Given the description of an element on the screen output the (x, y) to click on. 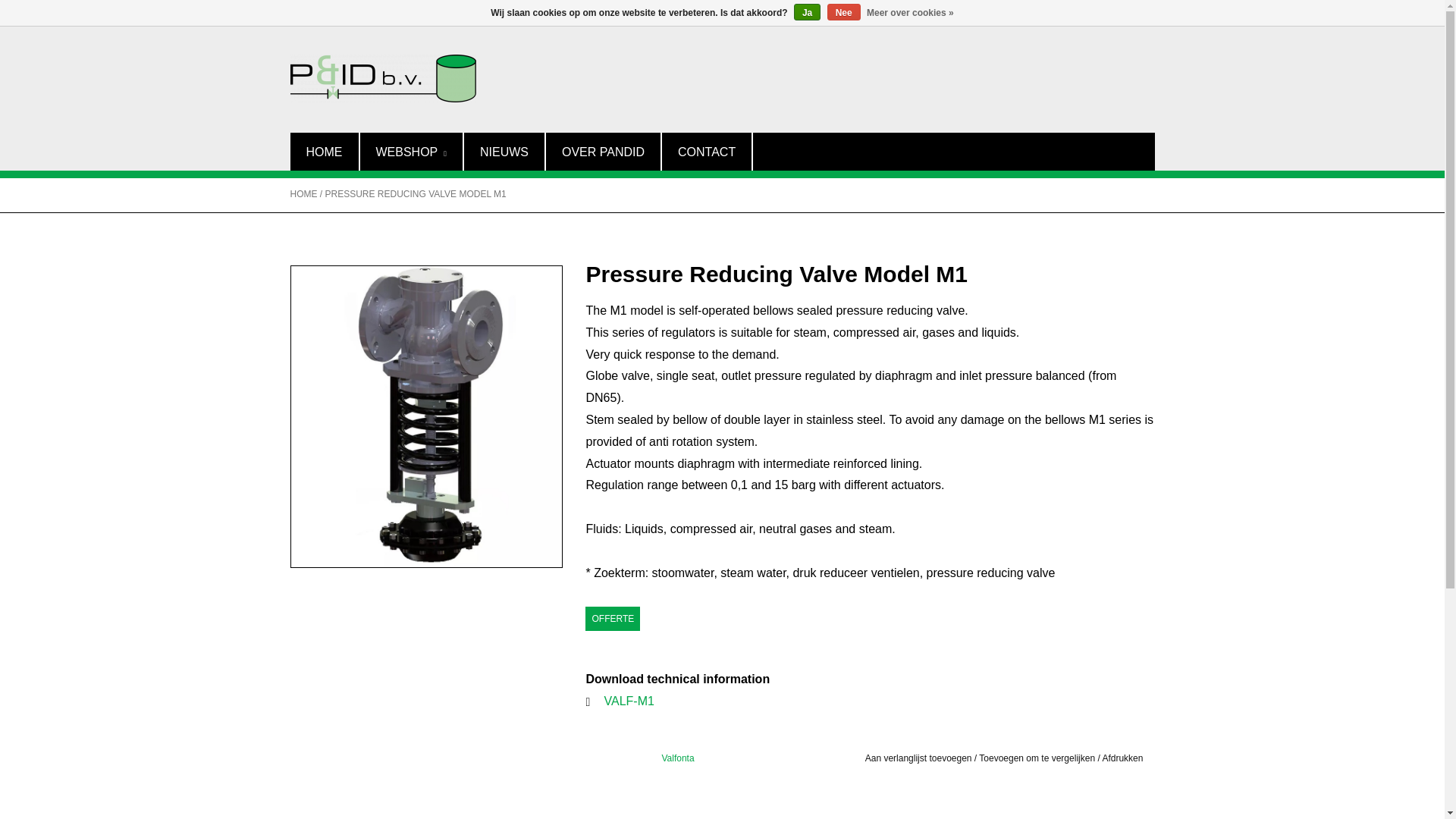
WEBSHOP (410, 151)
Valfonta (677, 757)
Afdrukken (1122, 757)
Aan verlanglijst toevoegen (918, 757)
HOME (303, 194)
Winkelwagen (1192, 12)
HOME (323, 151)
PRESSURE REDUCING VALVE MODEL M1 (415, 194)
Toevoegen om te vergelijken (1037, 757)
0 (1192, 12)
VALF-M1 (628, 700)
Account (1135, 12)
OFFERTE (612, 618)
Webshop (410, 151)
Mijn account (1135, 12)
